Given the description of an element on the screen output the (x, y) to click on. 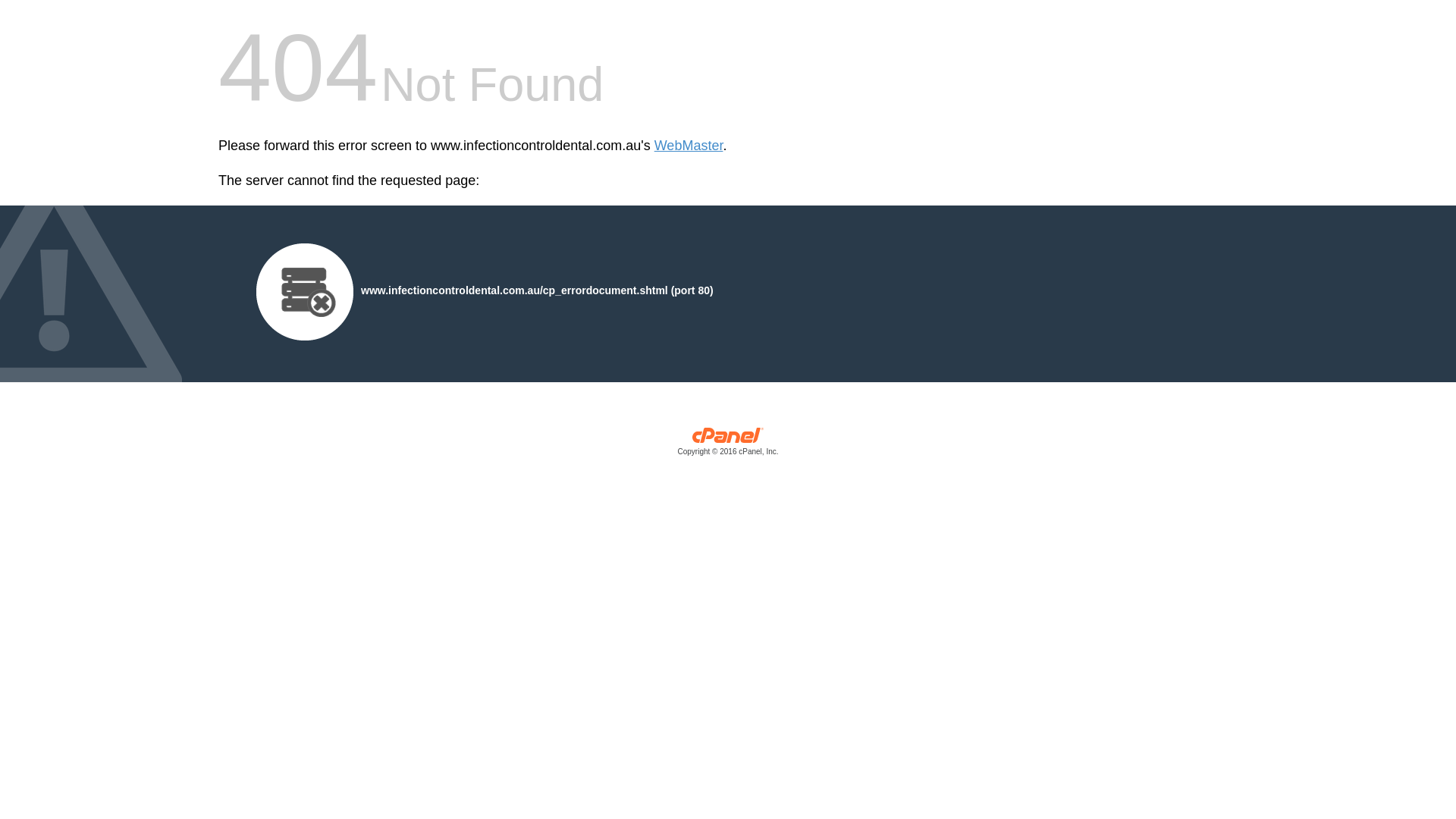
WebMaster Element type: text (688, 145)
